Given the description of an element on the screen output the (x, y) to click on. 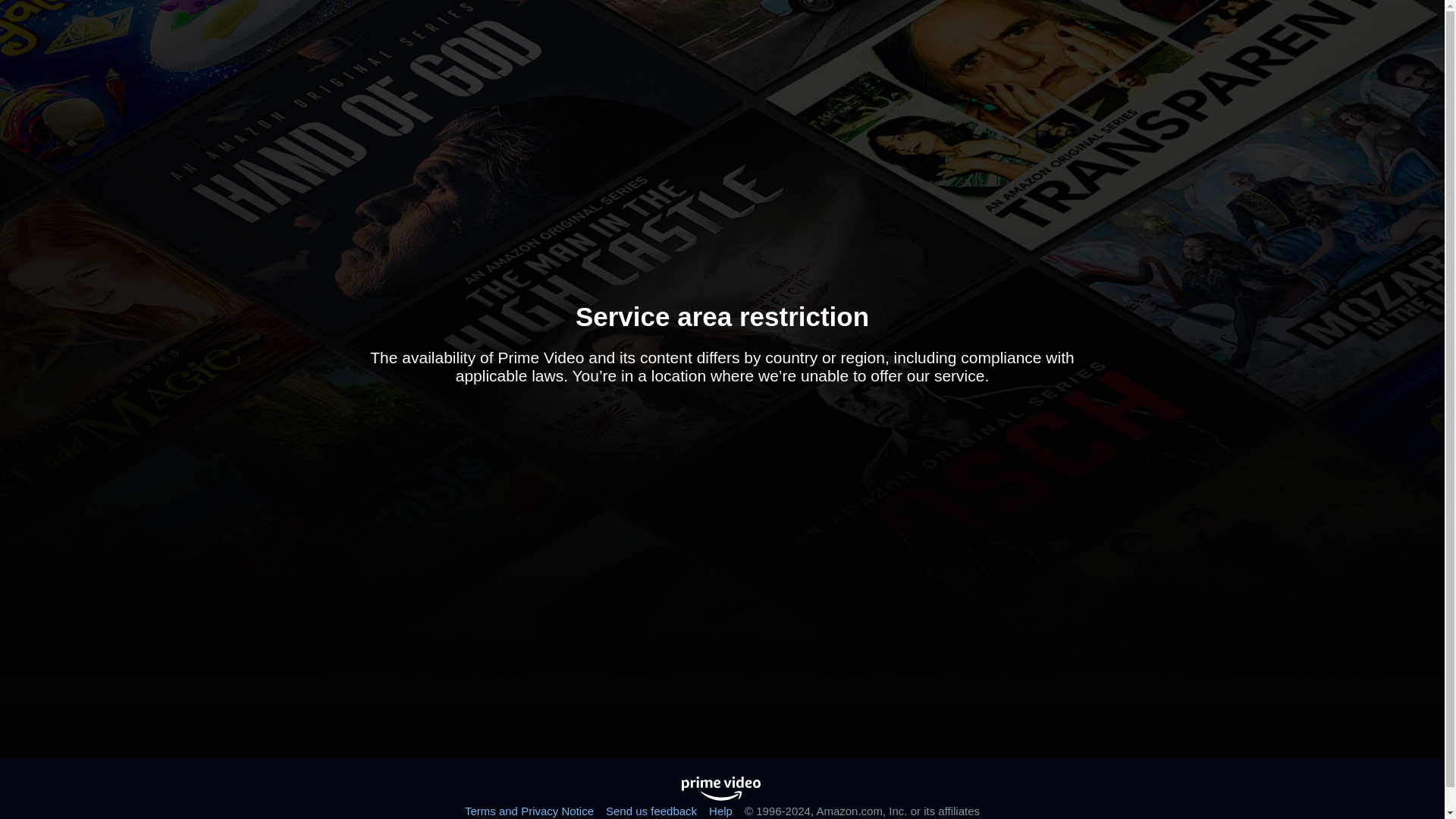
Help (720, 810)
Send us feedback (651, 810)
Terms and Privacy Notice (529, 810)
